Given the description of an element on the screen output the (x, y) to click on. 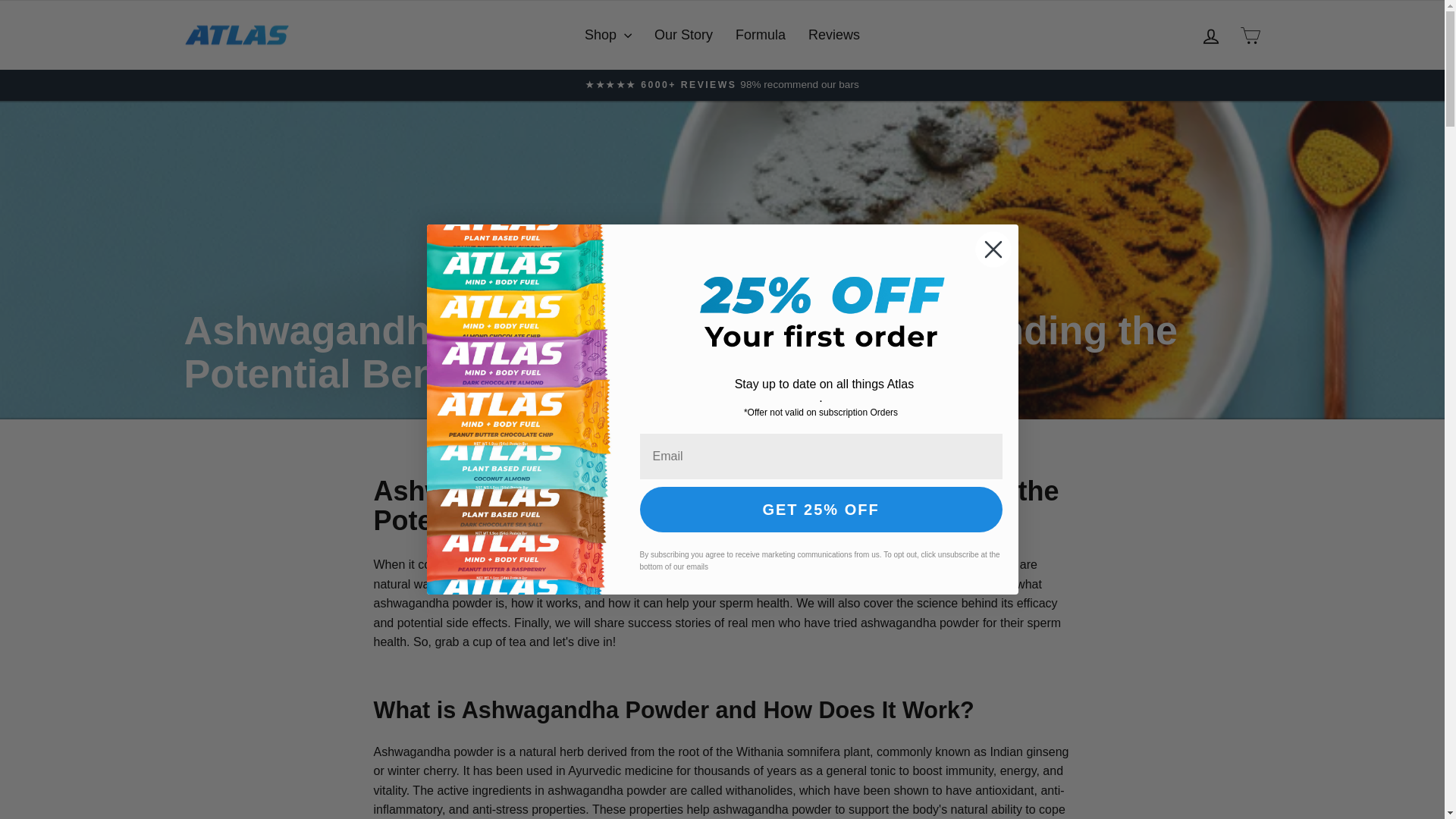
Reviews (833, 35)
Cart (1249, 34)
account (1210, 35)
Formula (1210, 34)
Our Story (759, 35)
